Given the description of an element on the screen output the (x, y) to click on. 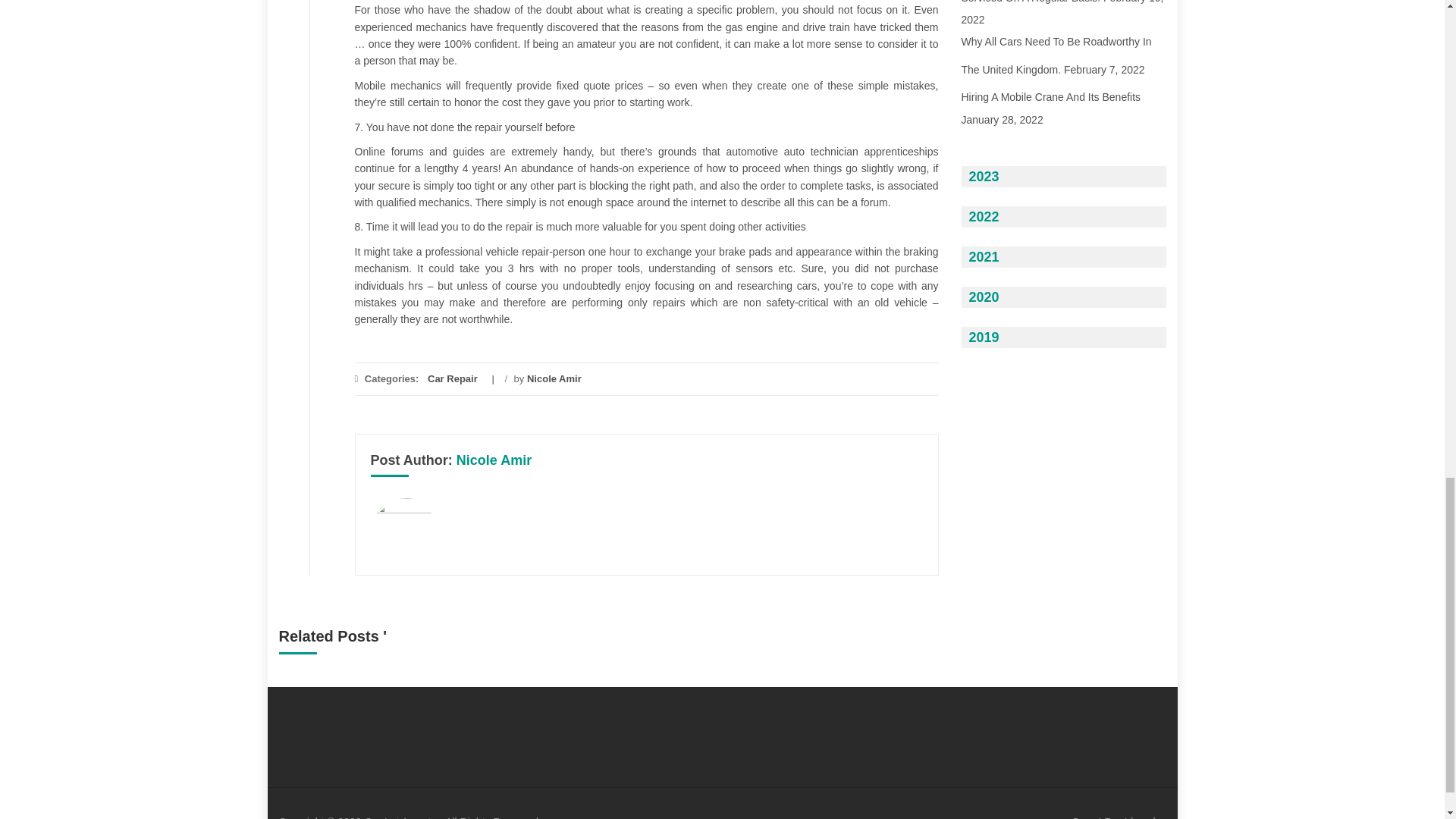
Nicole Amir (494, 459)
Car Repair (452, 378)
Nicole Amir (553, 378)
